Given the description of an element on the screen output the (x, y) to click on. 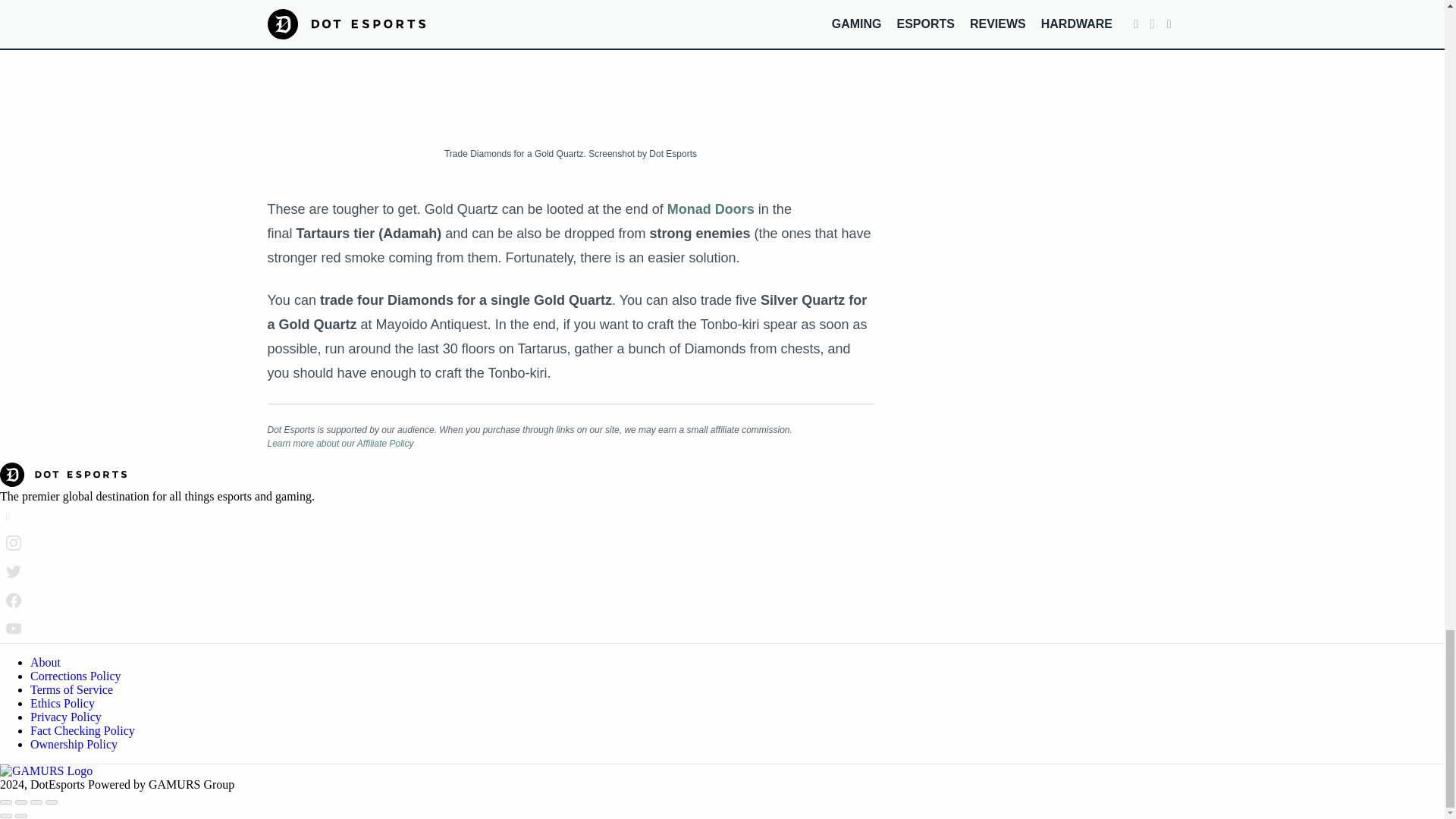
Share (20, 802)
Toggle fullscreen (36, 802)
